Given the description of an element on the screen output the (x, y) to click on. 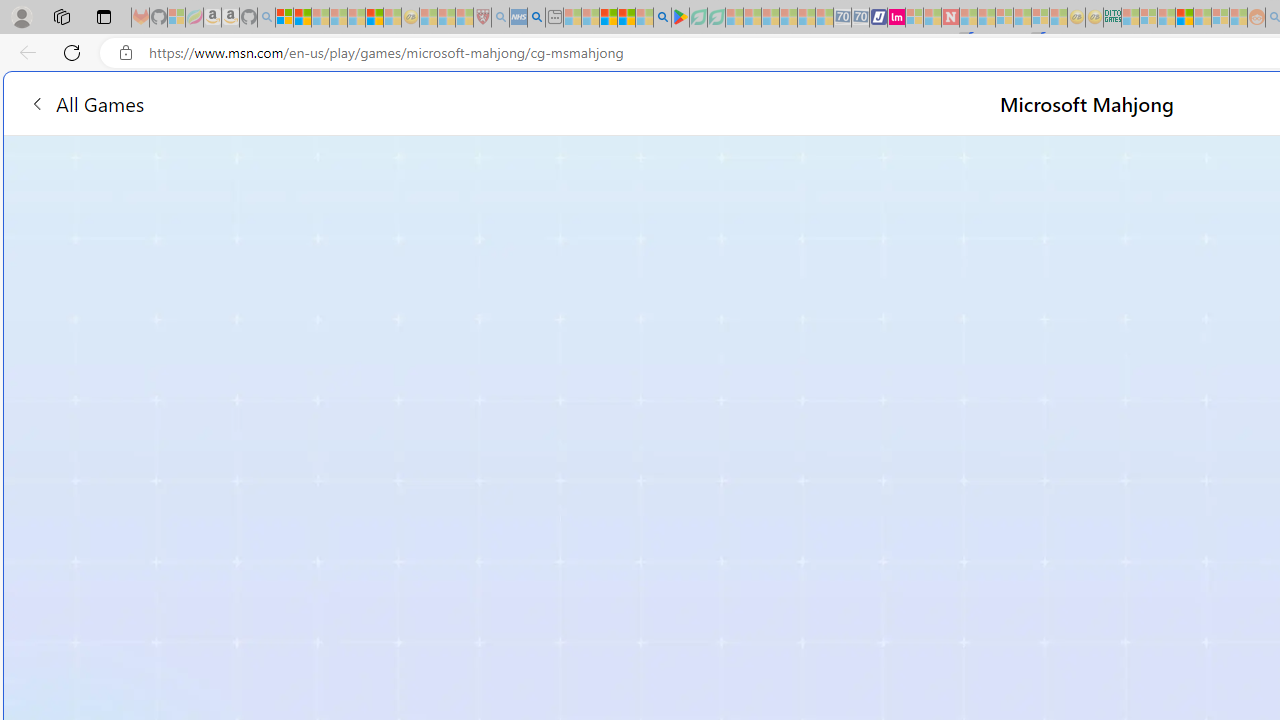
All Games (86, 102)
